Given the description of an element on the screen output the (x, y) to click on. 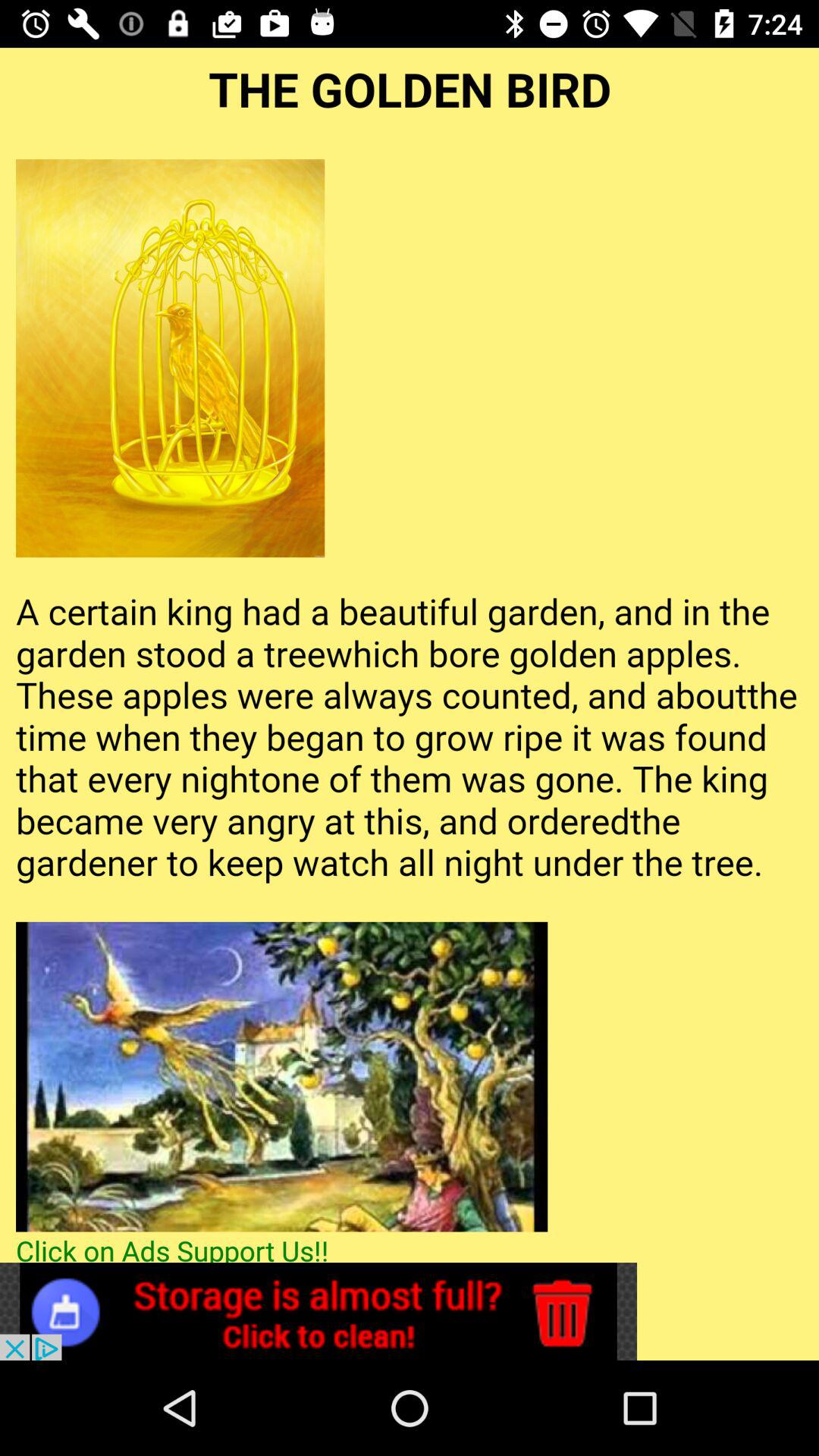
open advertisement (318, 1311)
